Given the description of an element on the screen output the (x, y) to click on. 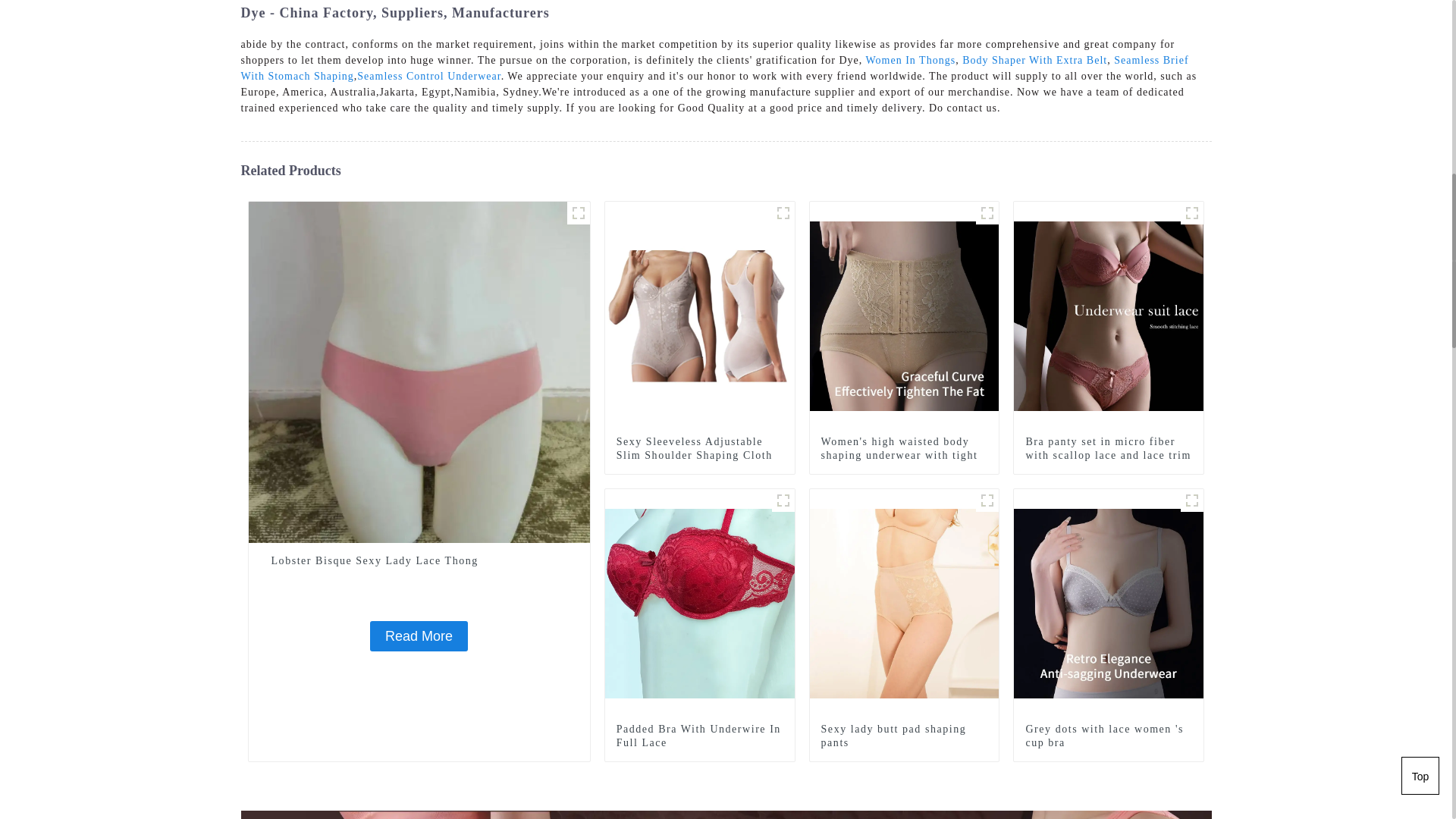
Women In Thongs (911, 60)
Bra panty set in micro fiber with scallop lace and lace trim (1108, 315)
Body Shaper With Extra Belt (1034, 60)
Bra-Panty Sets (1192, 212)
Women In Thongs (911, 60)
Body Shaper With Extra Belt (1034, 60)
Seamless Control Underwear (428, 75)
main (782, 212)
Lobster Bisque Sexy Lady Lace Thong (418, 635)
